Given the description of an element on the screen output the (x, y) to click on. 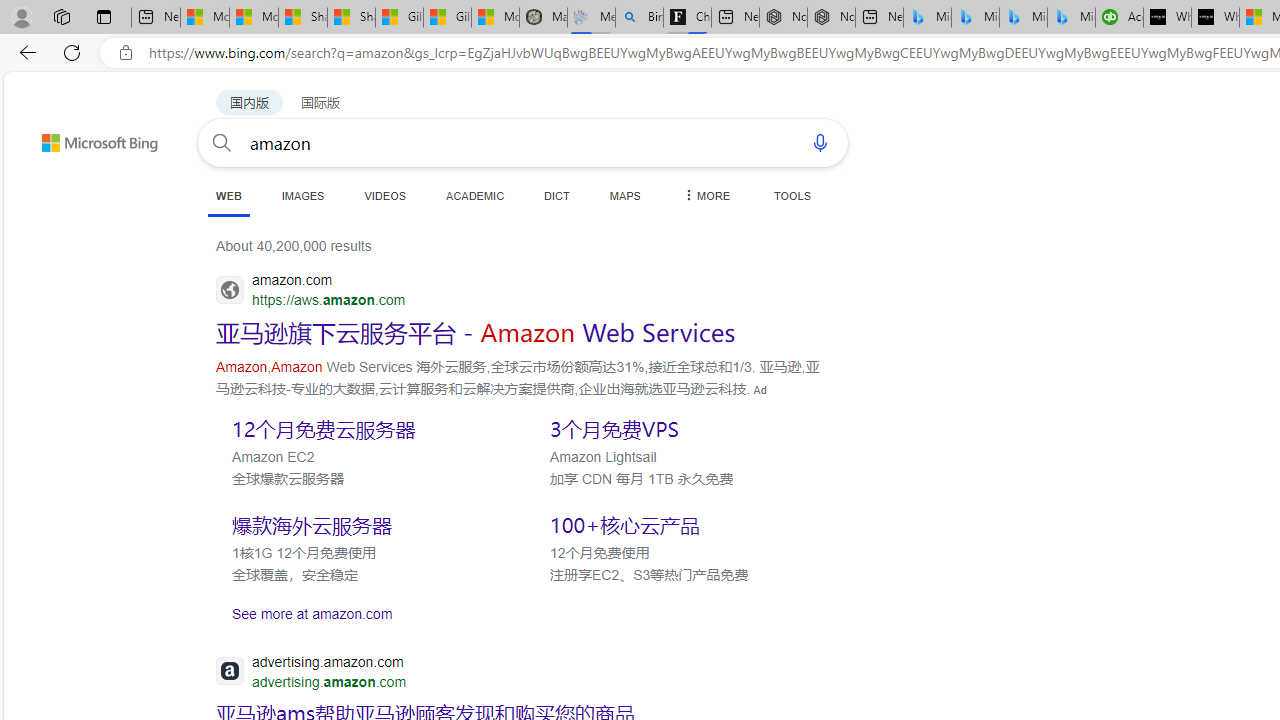
SERP,5550 (365, 428)
MAPS (624, 195)
Dropdown Menu (705, 195)
ACADEMIC (475, 195)
SERP,5551 (683, 428)
WEB (228, 196)
Search button (221, 142)
